Given the description of an element on the screen output the (x, y) to click on. 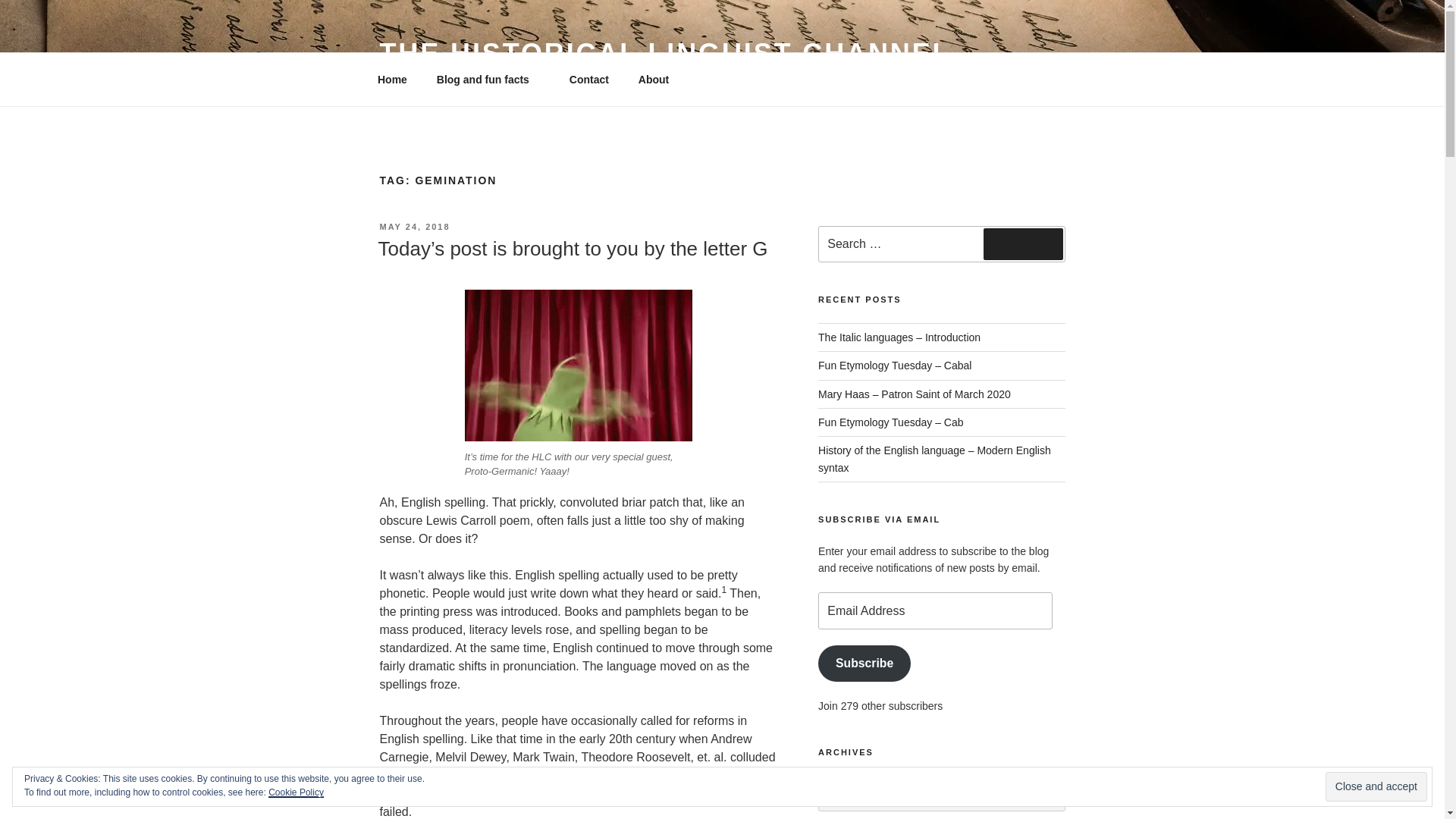
About (658, 78)
Subscribe (864, 663)
Home (392, 78)
Close and accept (1375, 786)
Contact (588, 78)
Blog and fun facts (488, 78)
MAY 24, 2018 (413, 225)
Search (1023, 244)
THE HISTORICAL LINGUIST CHANNEL (664, 52)
